Given the description of an element on the screen output the (x, y) to click on. 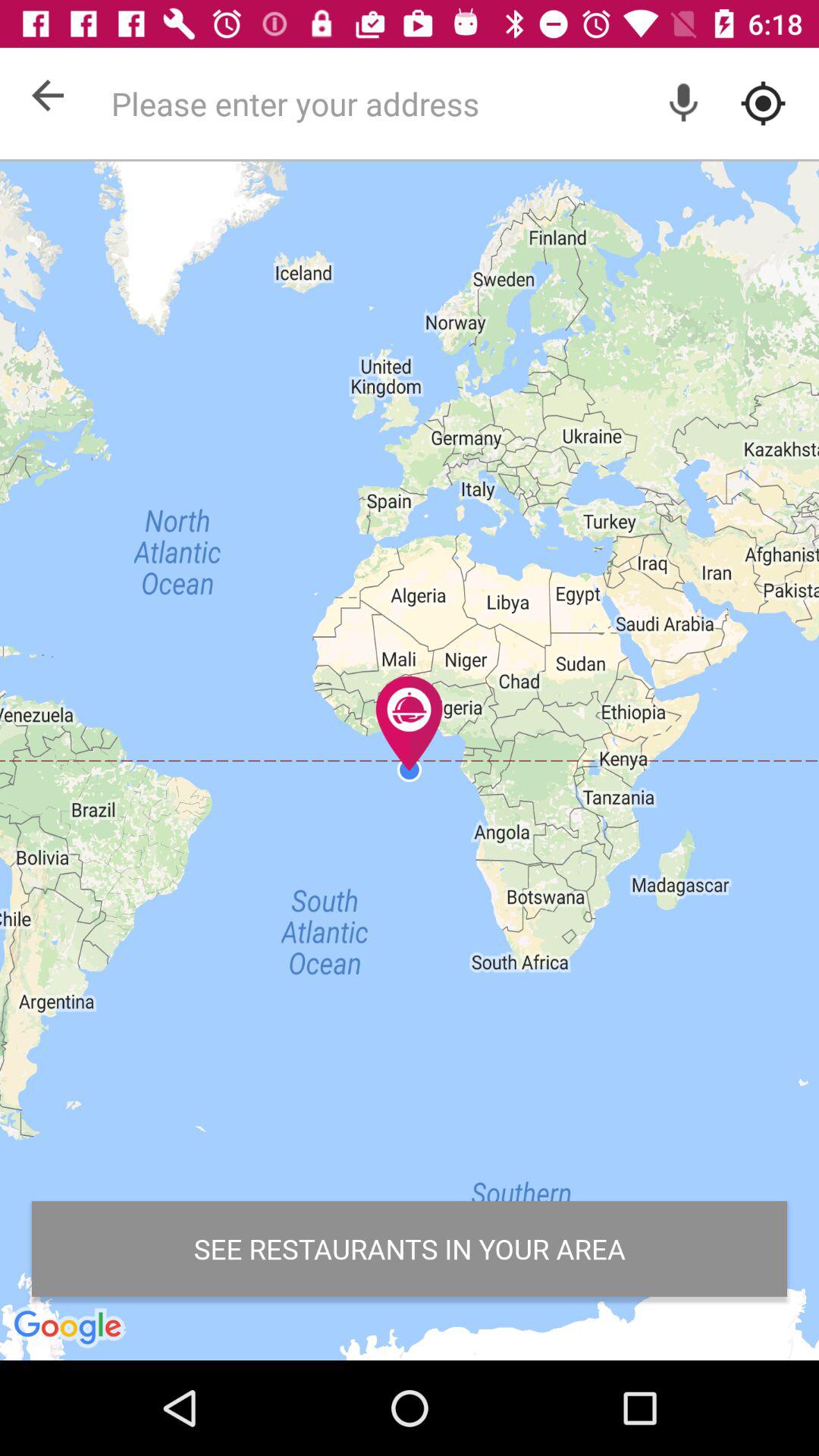
go to address (457, 103)
